Given the description of an element on the screen output the (x, y) to click on. 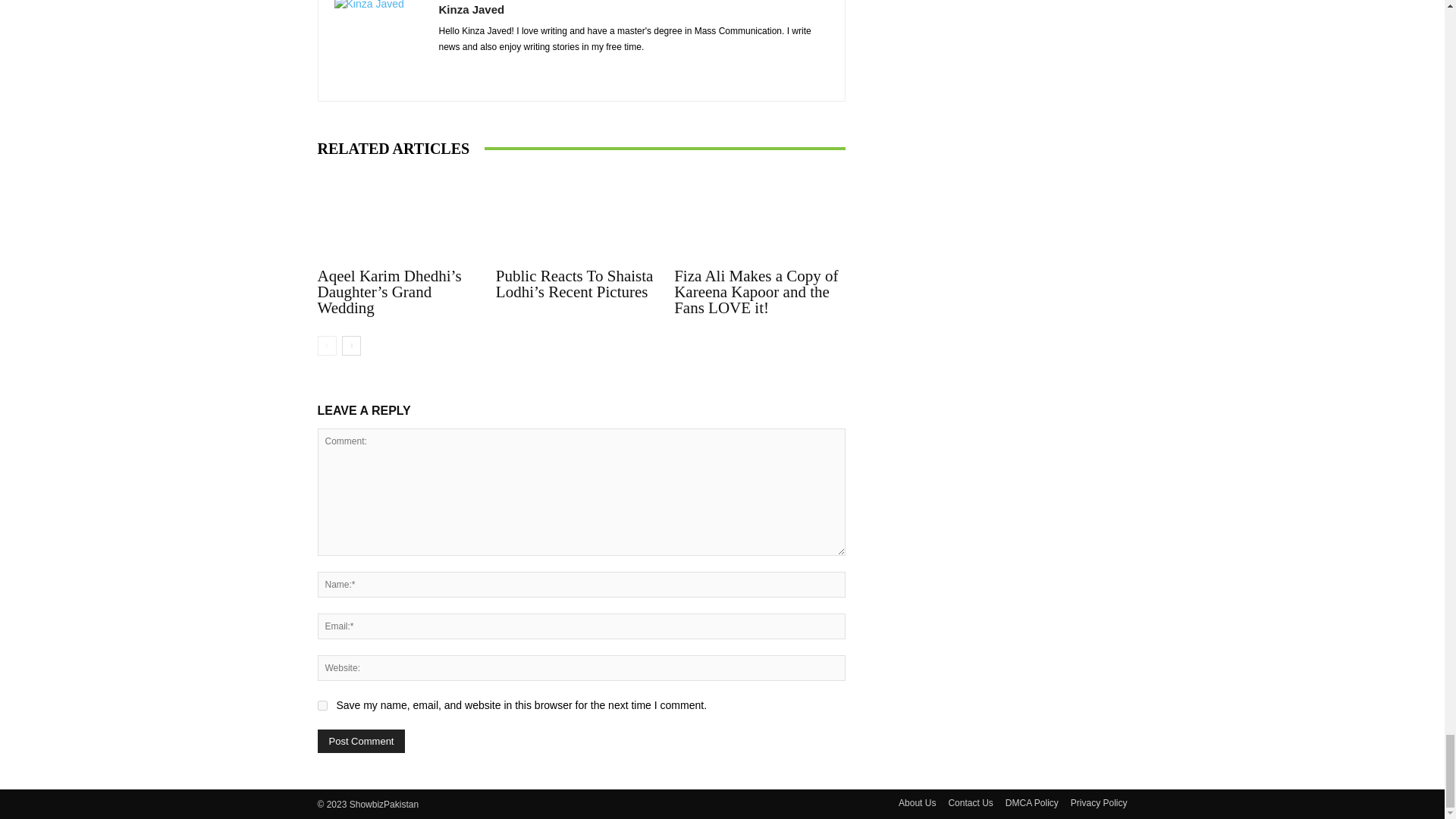
yes (321, 705)
Post Comment (360, 740)
